Given the description of an element on the screen output the (x, y) to click on. 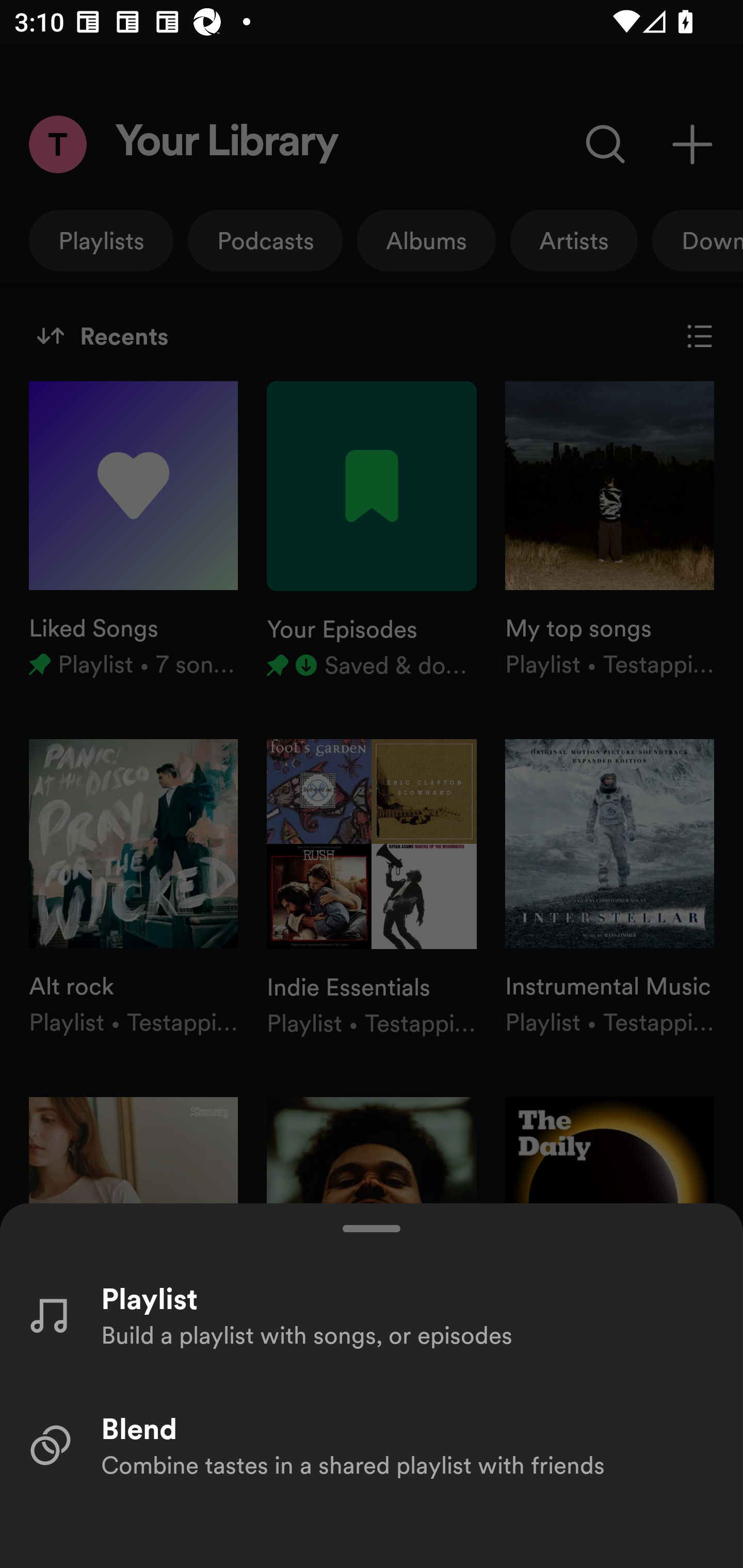
Playlist Build a playlist with songs, or episodes (371, 1314)
